Given the description of an element on the screen output the (x, y) to click on. 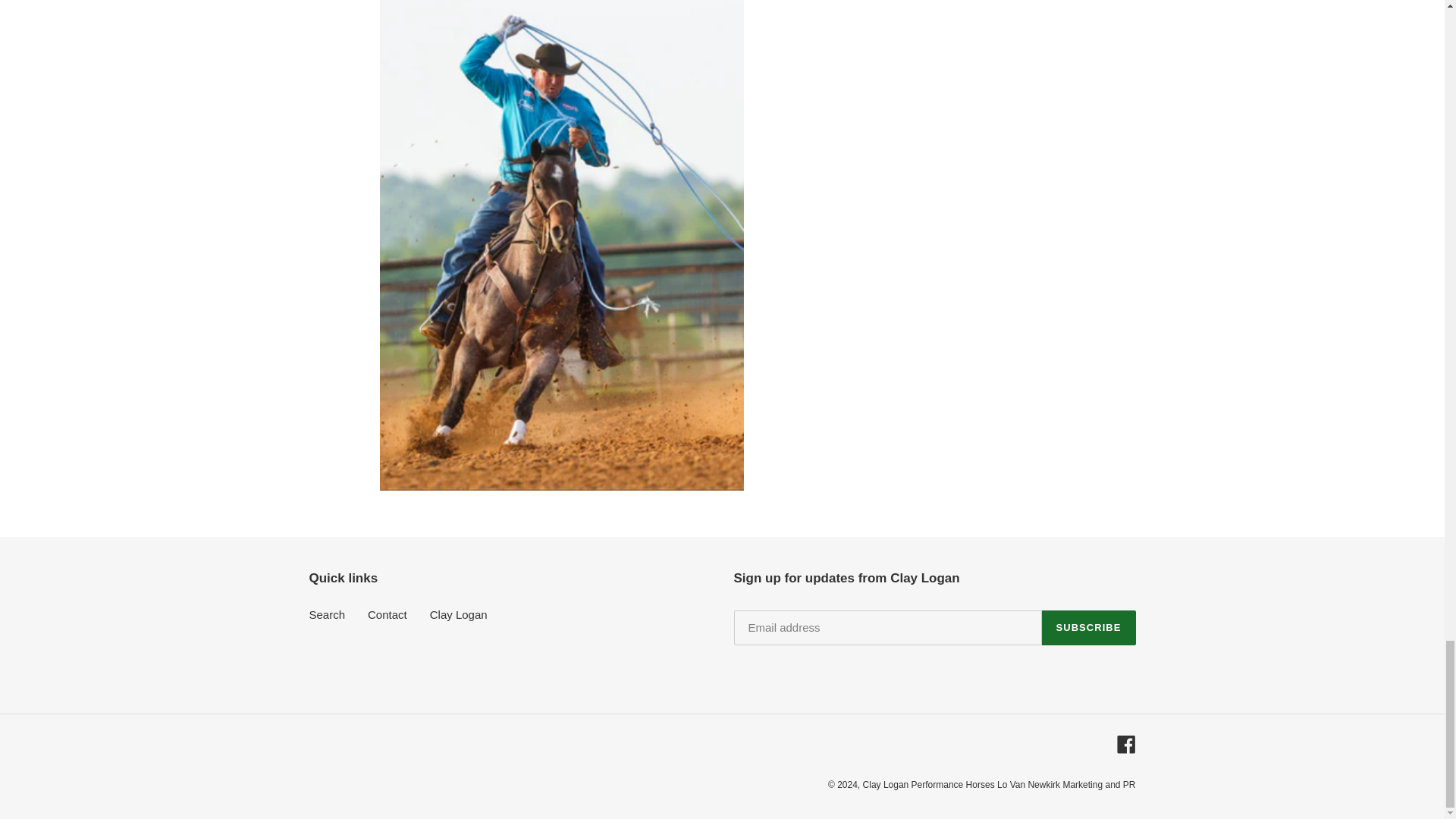
Search (327, 614)
Clay Logan (458, 614)
Lo Van Newkirk Marketing and PR (1066, 784)
SUBSCRIBE (1088, 627)
Contact (387, 614)
Clay Logan Performance Horses (930, 784)
Facebook (1125, 743)
